Given the description of an element on the screen output the (x, y) to click on. 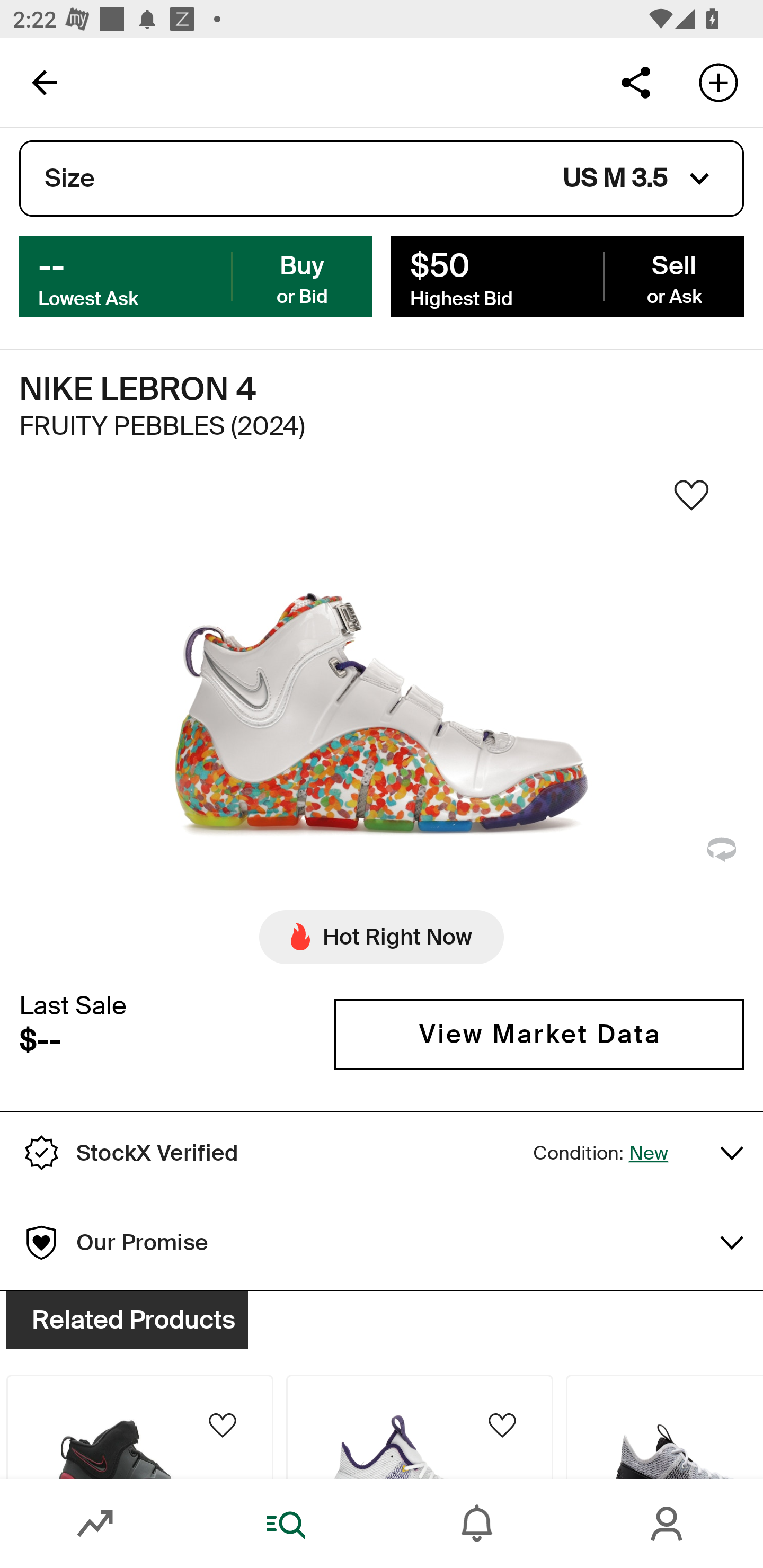
Share (635, 81)
Add (718, 81)
Size US M 3.5 (381, 178)
-- Buy Lowest Ask or Bid (195, 275)
$50 Sell Highest Bid or Ask (566, 275)
Sneaker Image (381, 699)
View Market Data (538, 1034)
Market (95, 1523)
Inbox (476, 1523)
Account (667, 1523)
